Given the description of an element on the screen output the (x, y) to click on. 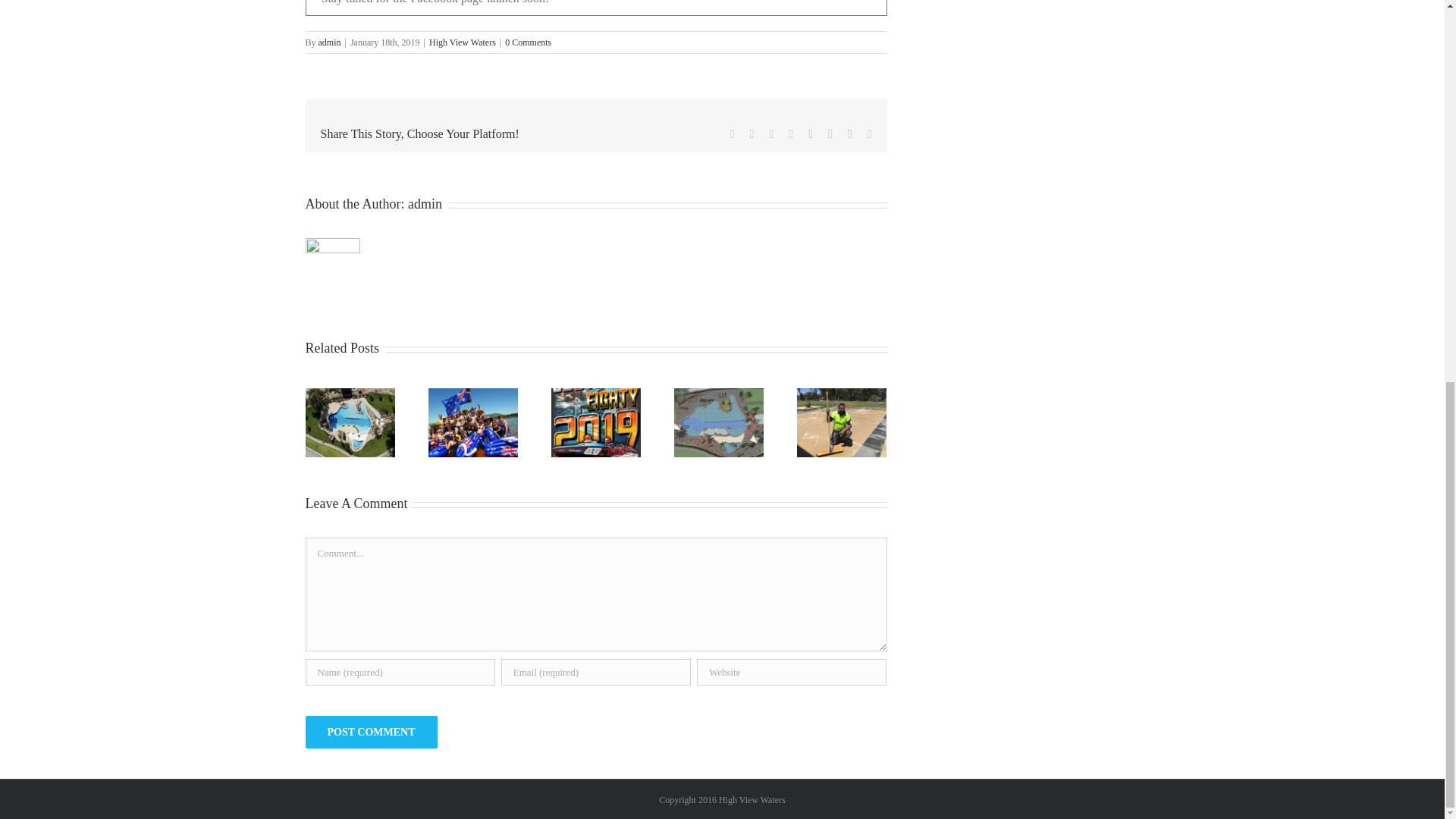
Reddit (770, 133)
Posts by admin (424, 203)
Tumblr (810, 133)
Posts by admin (329, 41)
Twitter (751, 133)
Post Comment (370, 731)
0 Comments (528, 41)
admin (329, 41)
LinkedIn (791, 133)
High View Waters (462, 41)
Facebook (732, 133)
